Given the description of an element on the screen output the (x, y) to click on. 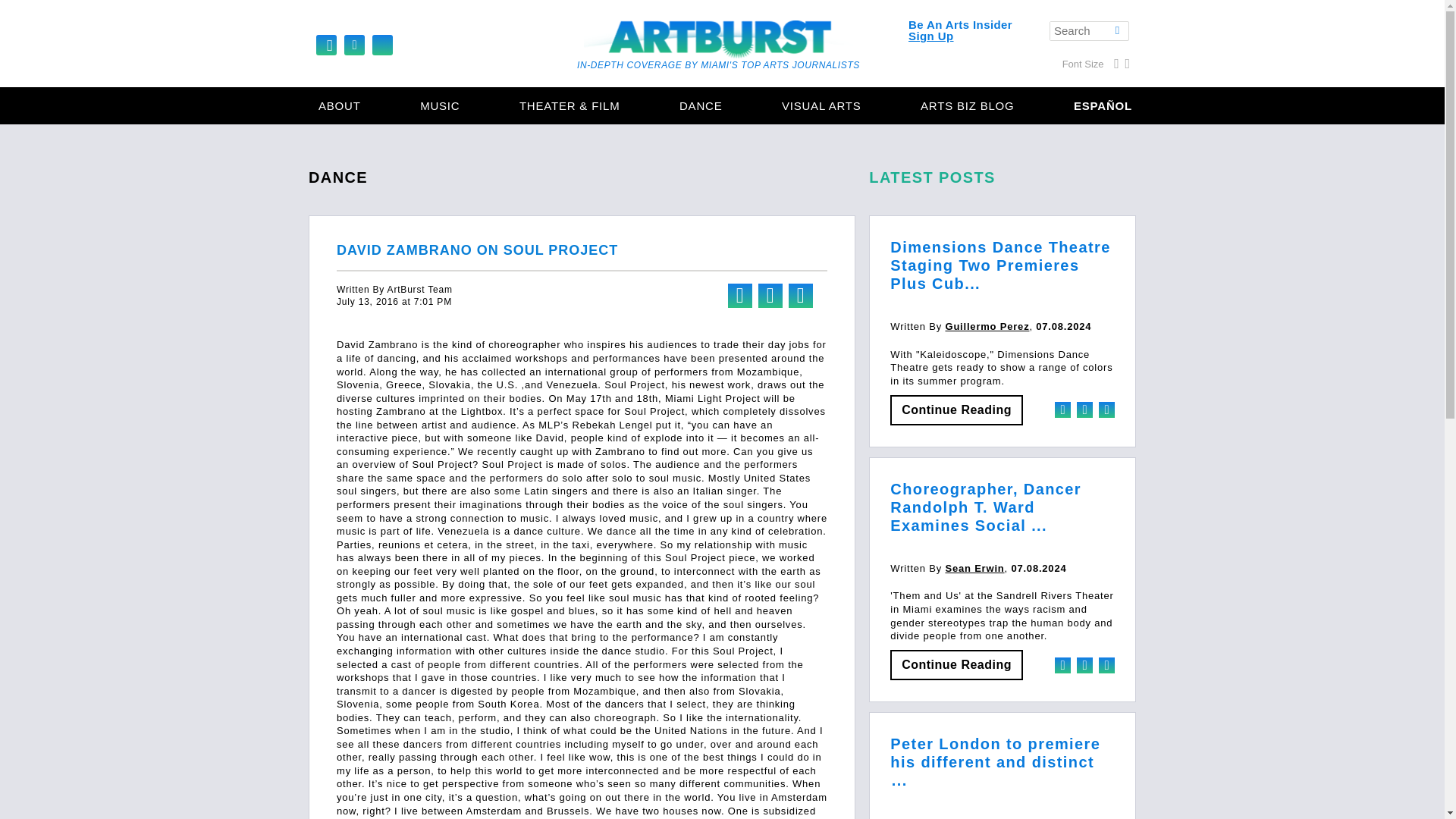
VISUAL ARTS (821, 105)
DANCE (700, 105)
Continue Reading (955, 409)
Choreographer, Dancer Randolph T. Ward Examines Social ... (985, 506)
Sign Up (930, 35)
Orlando Taquechel (993, 818)
Guillermo Perez (986, 326)
ARTS BIZ BLOG (967, 105)
Dimensions Dance Theatre Staging Two Premieres Plus Cub... (999, 265)
MUSIC (439, 105)
Sean Erwin (974, 568)
Continue Reading (955, 665)
ABOUT (339, 105)
